Given the description of an element on the screen output the (x, y) to click on. 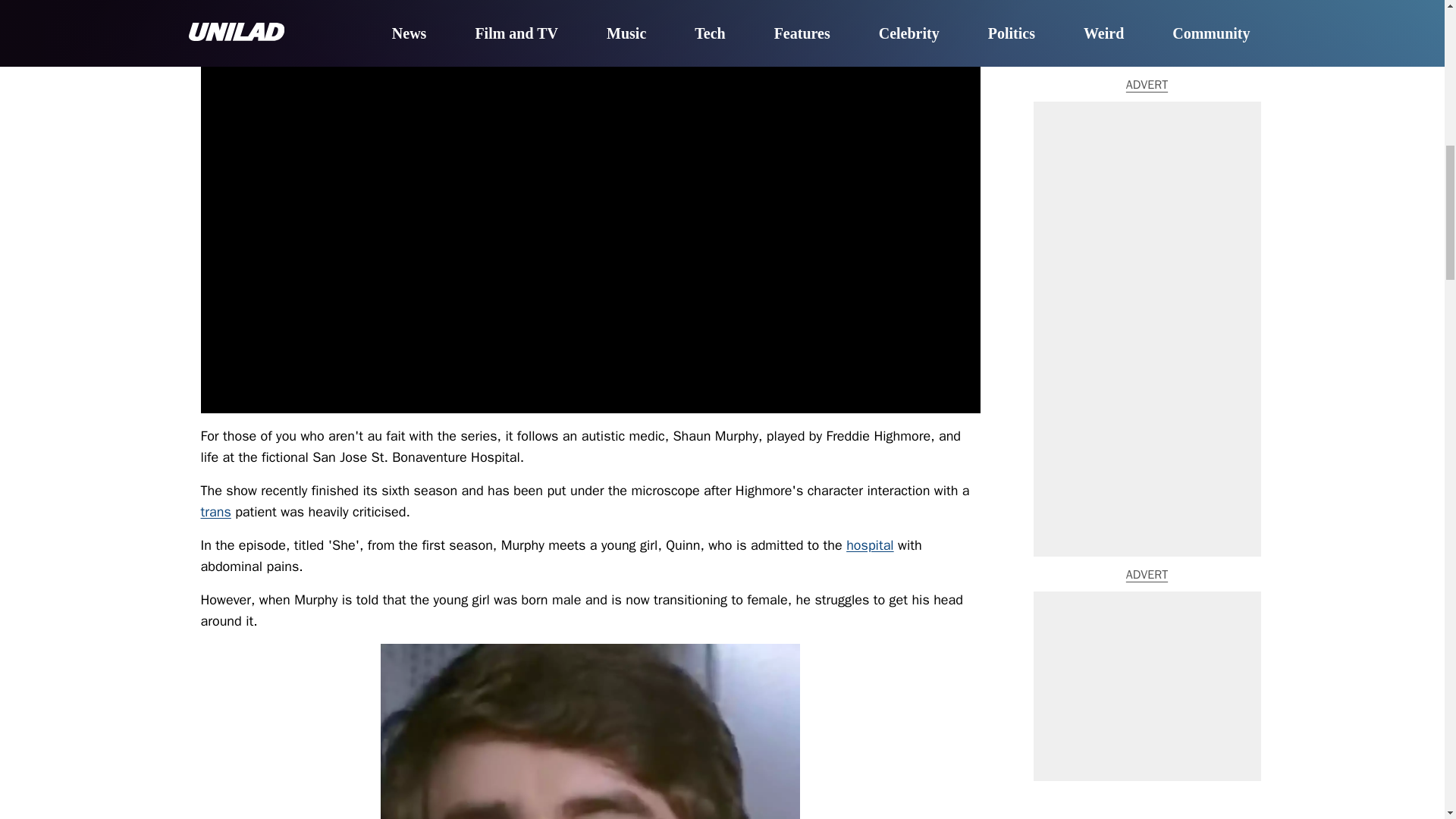
hospital (869, 545)
trans (215, 511)
